Given the description of an element on the screen output the (x, y) to click on. 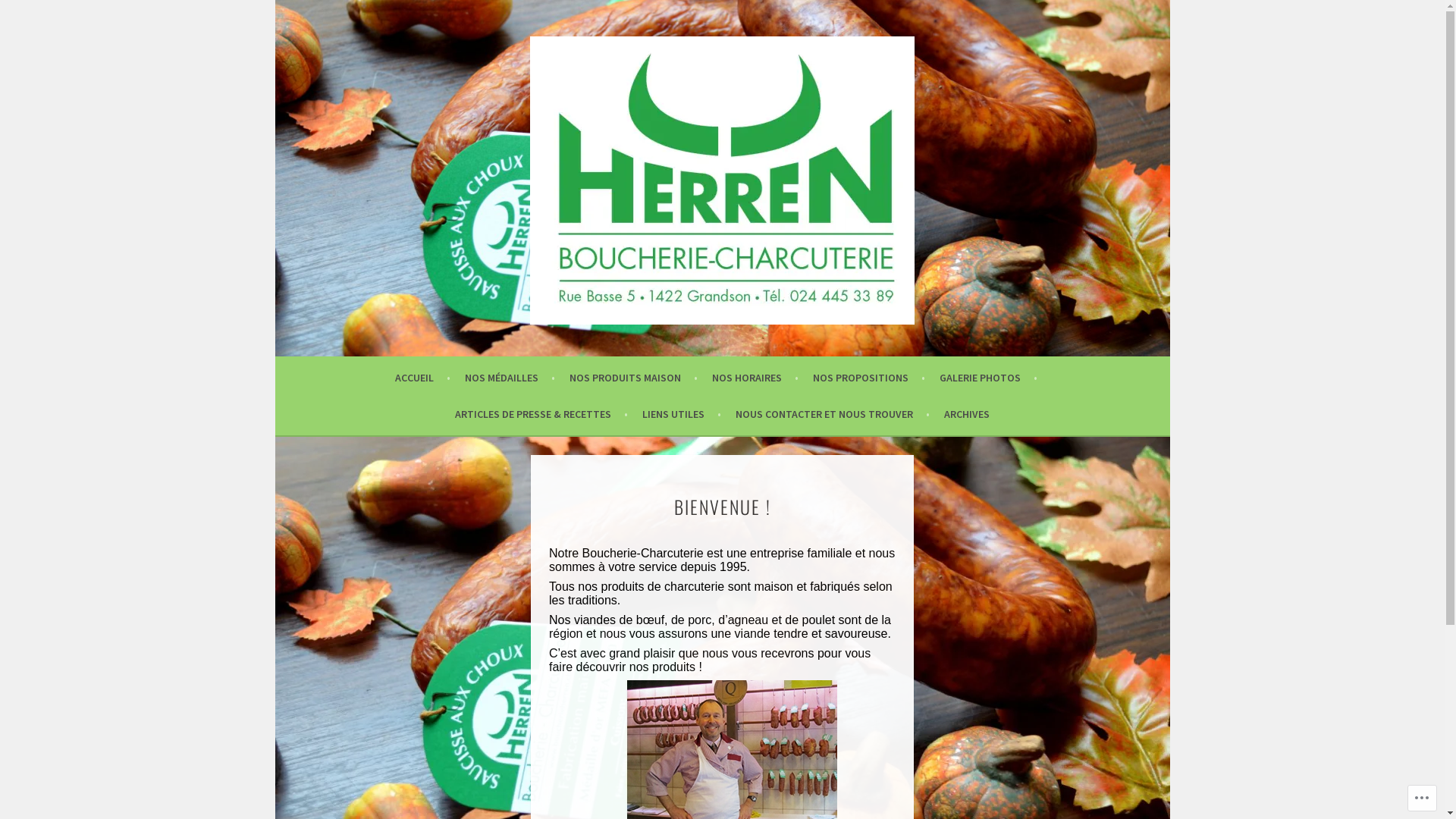
GALERIE PHOTOS Element type: text (988, 377)
BOUCHERIE CHARCUTERIE HERREN Element type: text (505, 365)
Rechercher Element type: text (37, 13)
NOS PRODUITS MAISON Element type: text (633, 377)
ARCHIVES Element type: text (966, 413)
NOS PROPOSITIONS Element type: text (868, 377)
NOUS CONTACTER ET NOUS TROUVER Element type: text (832, 413)
ACCUEIL Element type: text (422, 377)
NOS HORAIRES Element type: text (755, 377)
ARTICLES DE PRESSE & RECETTES Element type: text (541, 413)
LIENS UTILES Element type: text (681, 413)
